Given the description of an element on the screen output the (x, y) to click on. 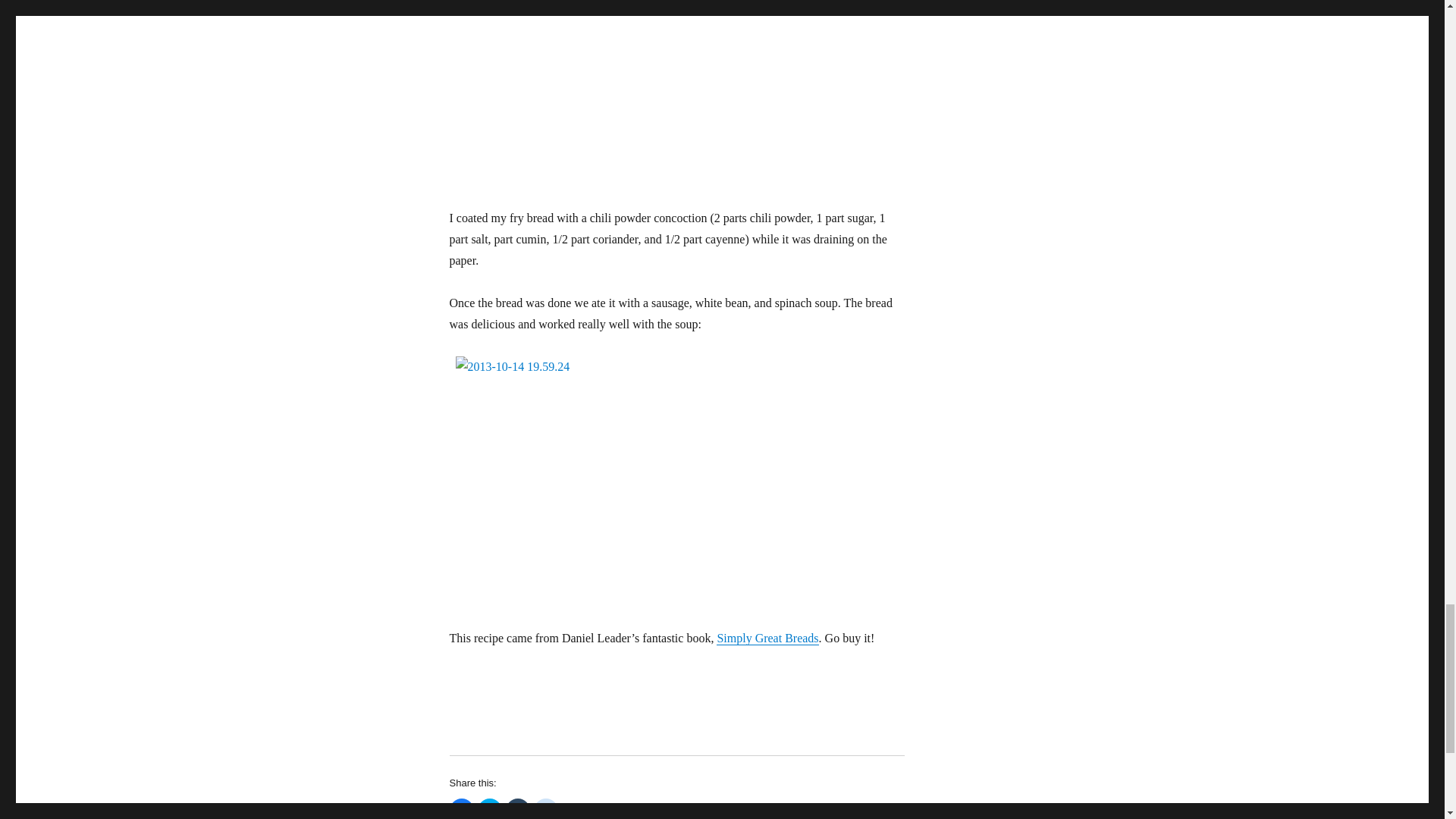
Click to share on Reddit (545, 808)
Click to share on Tumblr (517, 808)
Simply Great Breads (767, 637)
Click to share on Facebook (460, 808)
Click to share on Twitter (489, 808)
